Given the description of an element on the screen output the (x, y) to click on. 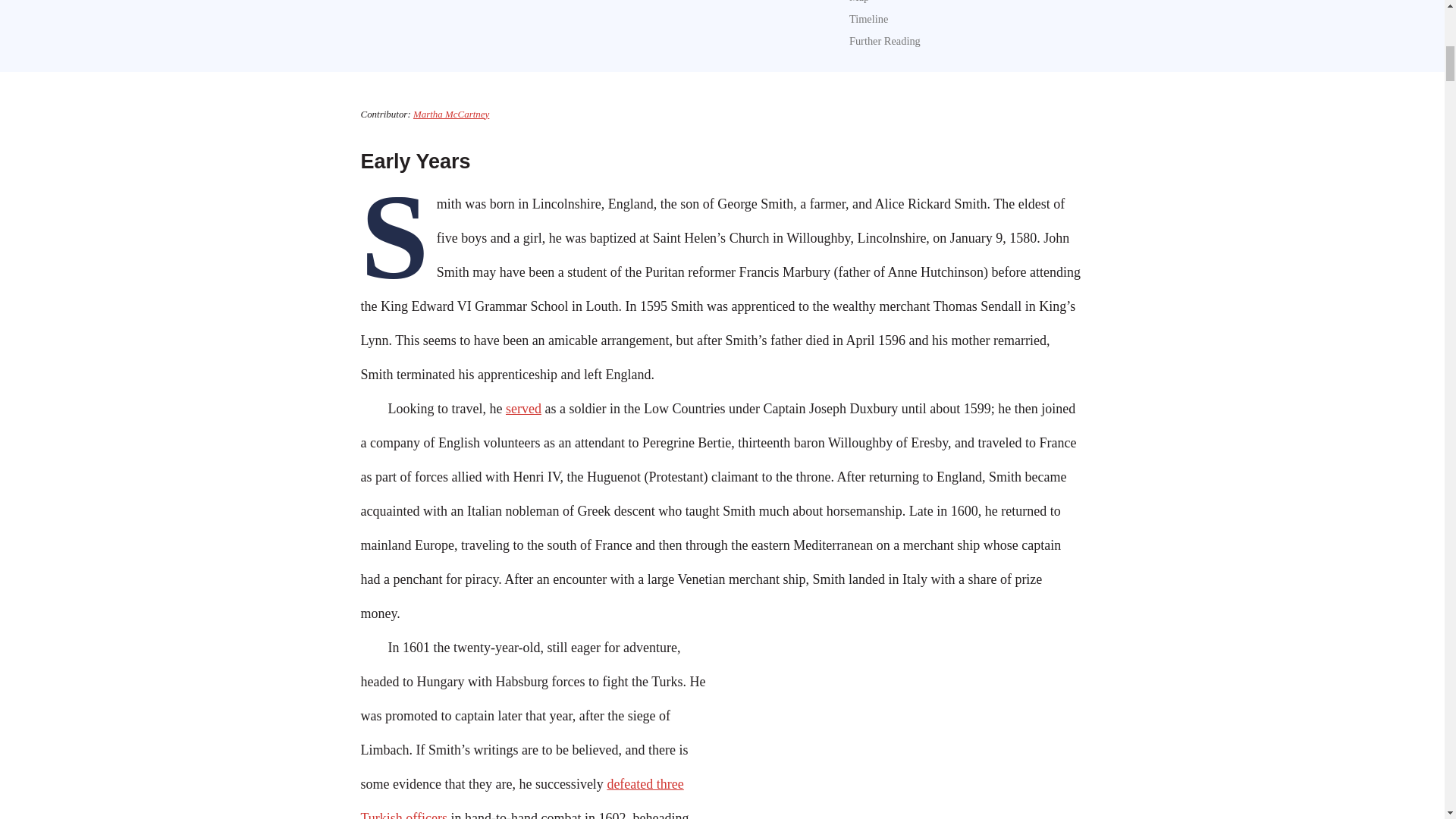
Further Reading (884, 40)
Map (858, 1)
served (523, 408)
Martha McCartney (451, 113)
defeated three Turkish officers (522, 797)
Timeline (868, 19)
